Given the description of an element on the screen output the (x, y) to click on. 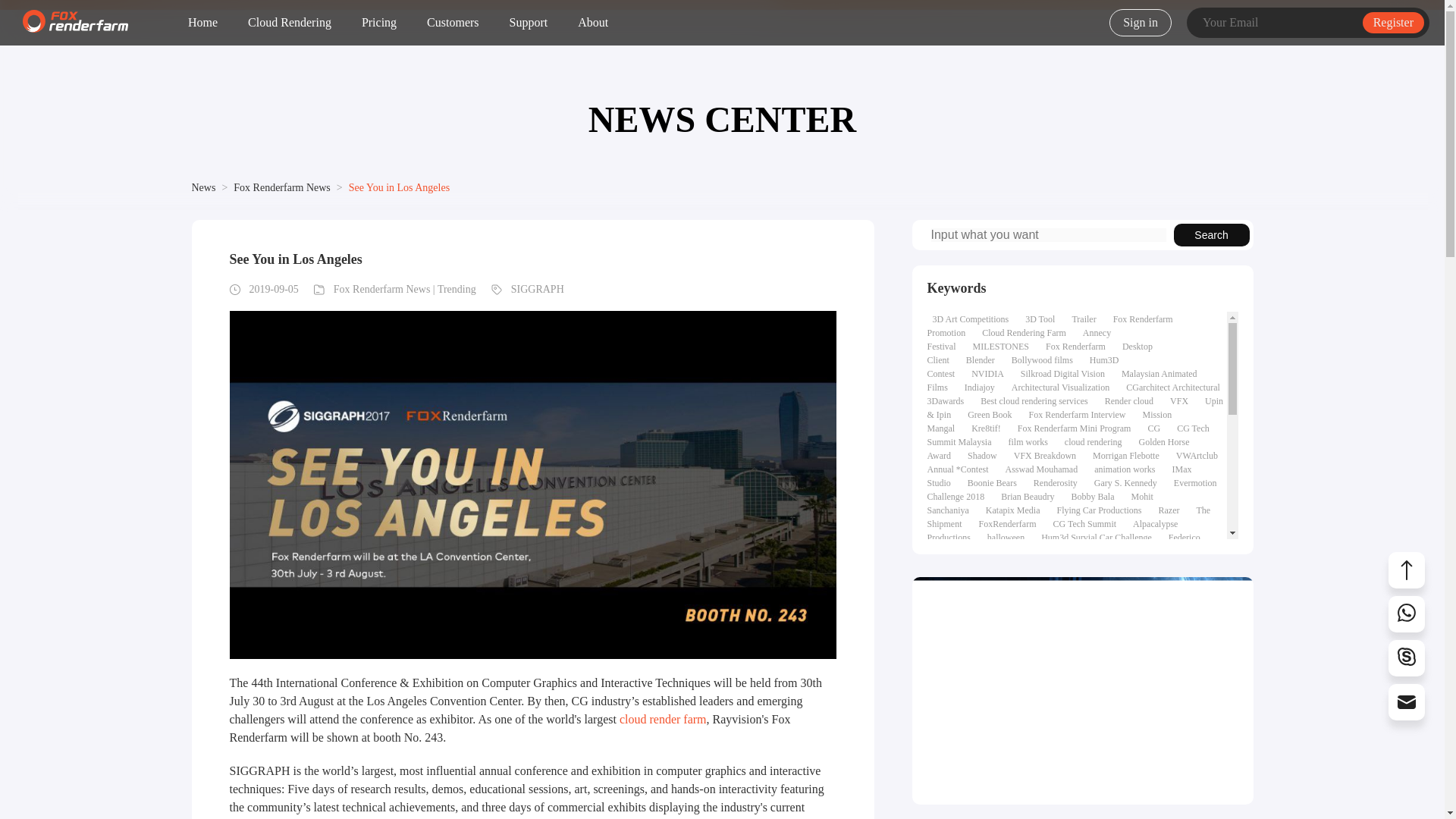
News (202, 187)
Customers (451, 22)
See You in Los Angeles (399, 187)
Search (1211, 234)
Pricing (379, 22)
cloud render farm (663, 718)
Register (1392, 22)
Home (202, 22)
Cloud Rendering (289, 22)
Fox Renderfarm News (281, 187)
Sign in (1140, 22)
